Given the description of an element on the screen output the (x, y) to click on. 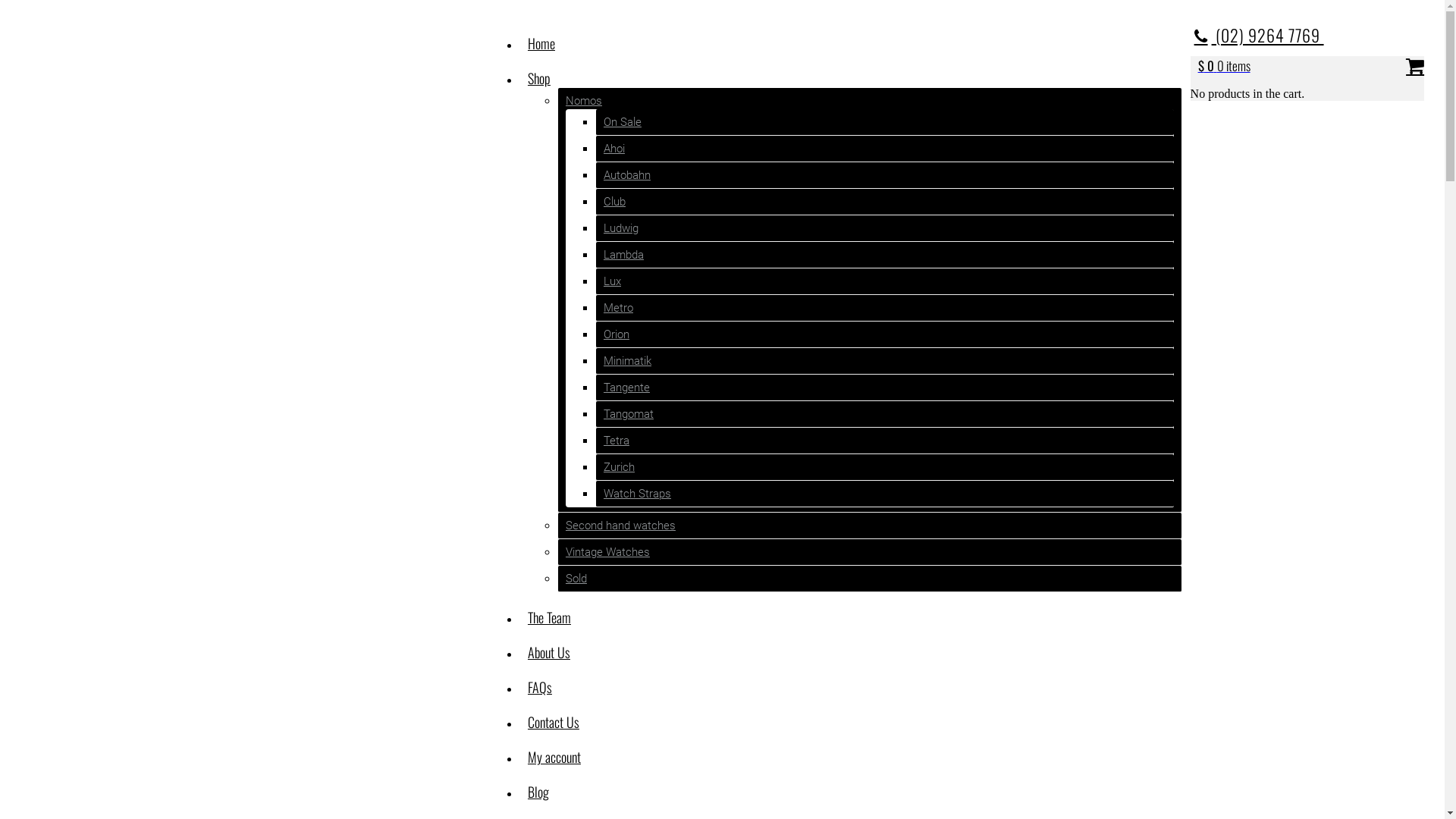
Club Element type: text (614, 201)
Ludwig Element type: text (620, 228)
Shop Element type: text (538, 77)
Autobahn Element type: text (626, 175)
(02) 9264 7769  Element type: text (1259, 34)
Second hand watches Element type: text (620, 525)
Metro Element type: text (618, 307)
Lambda Element type: text (623, 254)
$ 0 0 items Element type: text (1224, 66)
Ahoi Element type: text (613, 148)
Vintage Watches Element type: text (607, 551)
Orion Element type: text (616, 334)
Tetra Element type: text (616, 440)
About Us Element type: text (548, 652)
Blog Element type: text (538, 791)
Lux Element type: text (612, 281)
Home Element type: text (541, 43)
FAQs Element type: text (539, 686)
Contact Us Element type: text (553, 721)
Sold Element type: text (575, 578)
On Sale Element type: text (622, 121)
My account Element type: text (553, 756)
Zurich Element type: text (618, 466)
The Team Element type: text (549, 617)
Tangente Element type: text (626, 387)
Tangomat Element type: text (628, 413)
Watch Straps Element type: text (637, 493)
Minimatik Element type: text (627, 360)
Nomos Element type: text (583, 100)
